Given the description of an element on the screen output the (x, y) to click on. 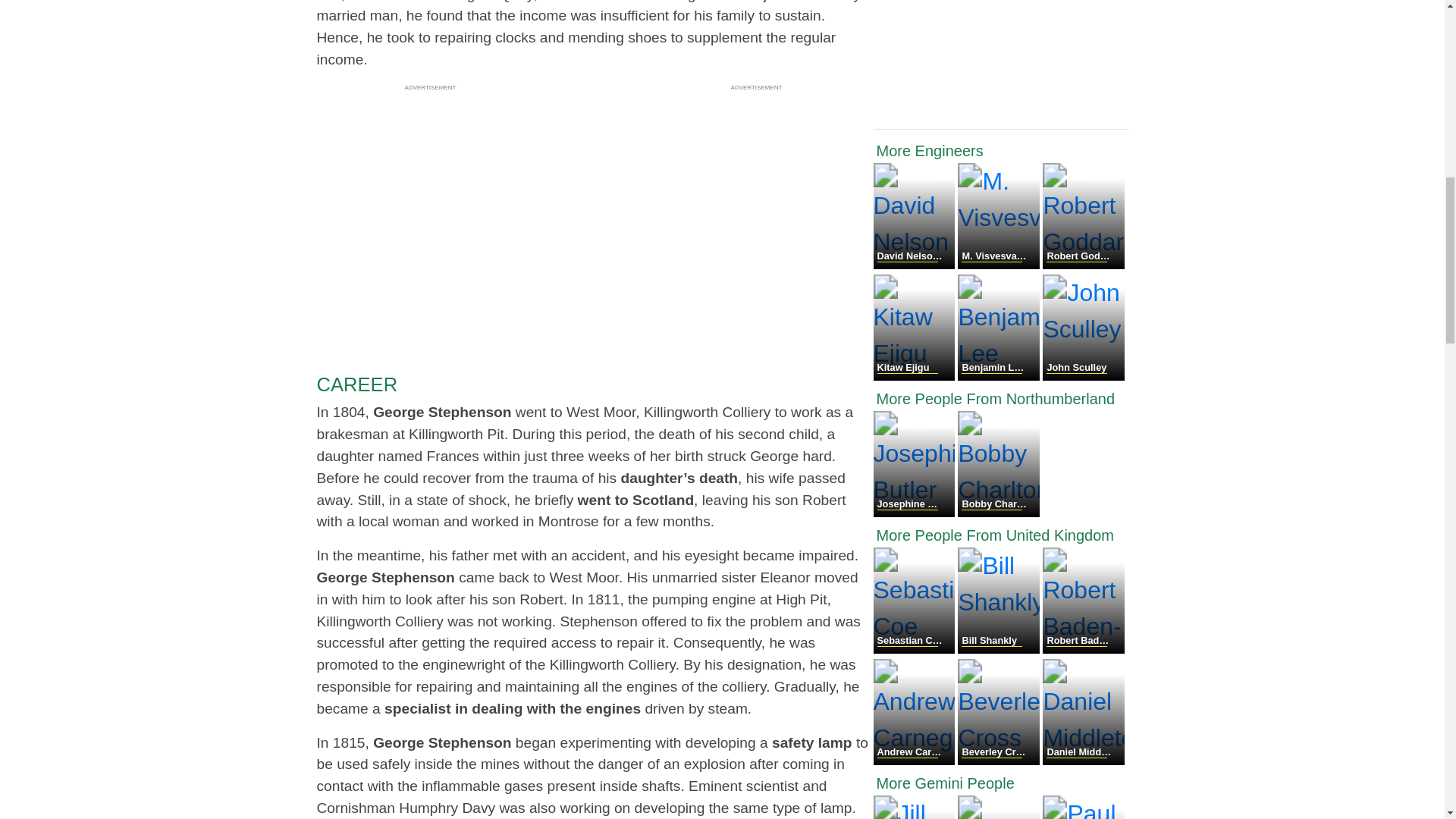
Sebastian Coe (915, 649)
Bobby Charlton (998, 512)
More People From United Kingdom (1000, 535)
Benjamin Lee Whorf (1000, 376)
Kitaw Ejigu (915, 376)
Robert Goddard (1083, 264)
David Nelson Crosthwait Jr. (915, 264)
Beverley Cross (1000, 760)
M. Visvesvaraya (1000, 264)
Robert Baden-Powell, 1st Baron Baden-Powell (1083, 649)
John Sculley (1083, 376)
Daniel Middleton (1083, 760)
Bill Shankly (1000, 649)
More People From Northumberland (1000, 398)
Josephine Butler (915, 512)
